Given the description of an element on the screen output the (x, y) to click on. 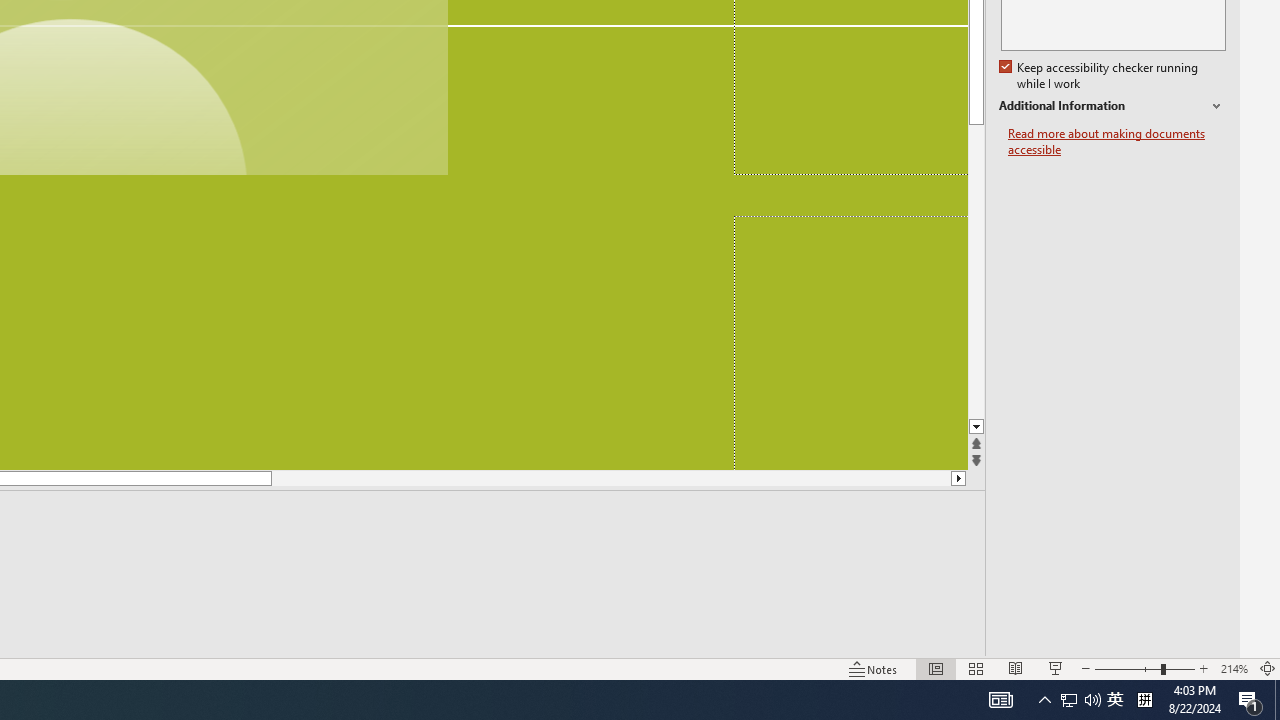
Additional Information (1112, 106)
Read more about making documents accessible (1117, 142)
Keep accessibility checker running while I work (1099, 76)
Subtitle TextBox (850, 343)
Zoom 214% (1234, 668)
